Given the description of an element on the screen output the (x, y) to click on. 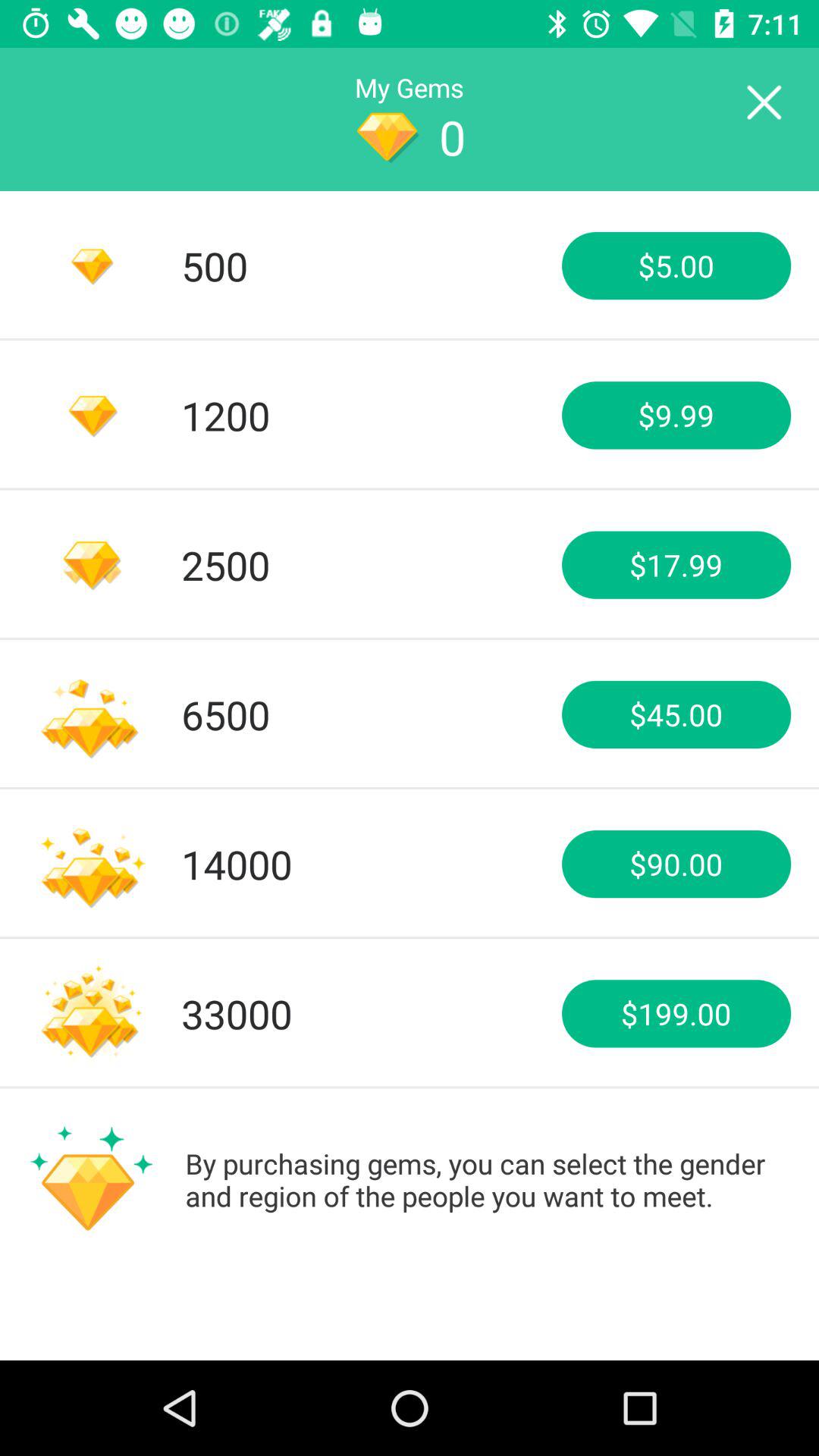
close current screen (763, 103)
